Given the description of an element on the screen output the (x, y) to click on. 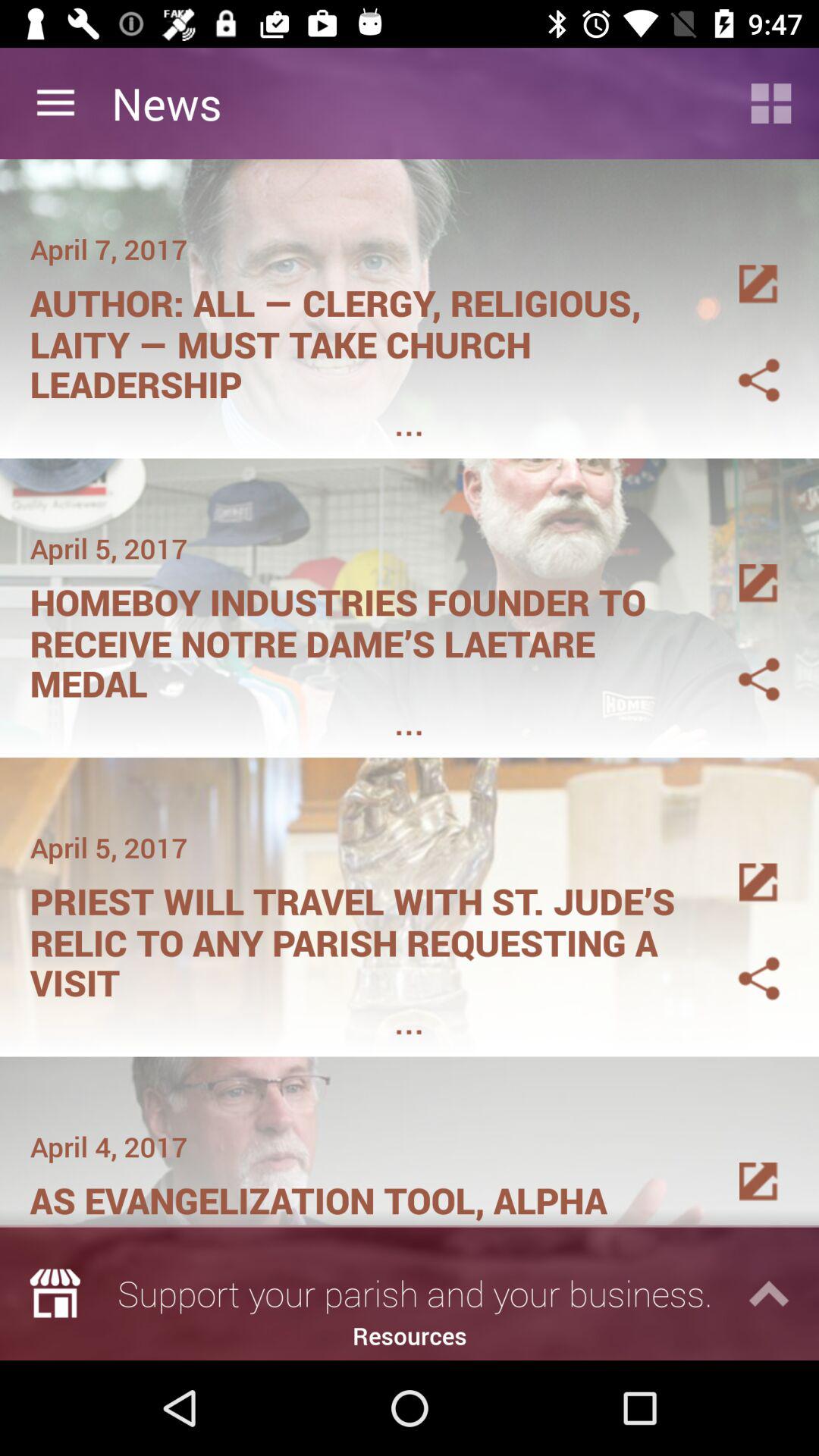
scroll until priest will travel item (361, 937)
